Given the description of an element on the screen output the (x, y) to click on. 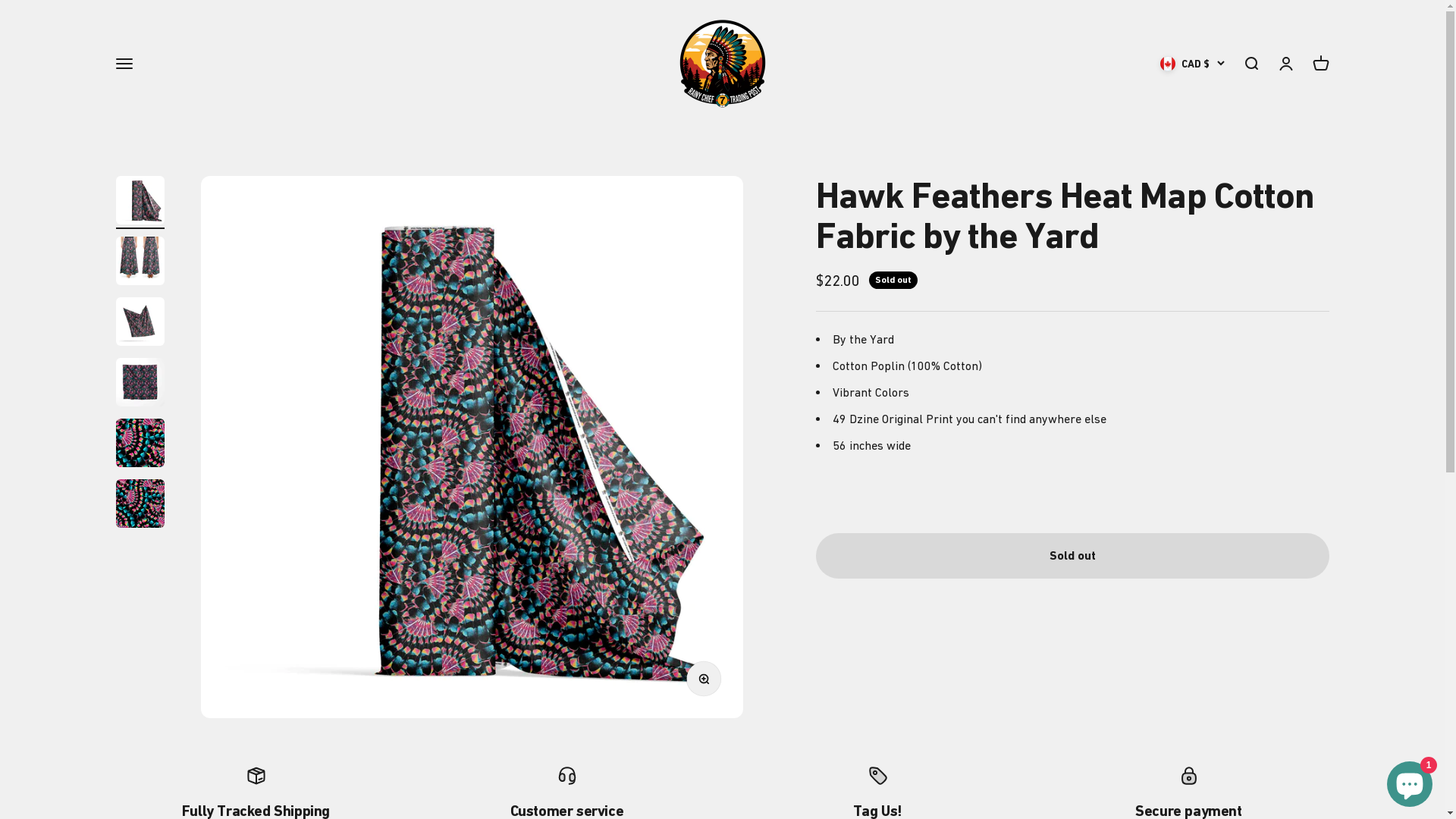
CAD $ Element type: text (1192, 63)
Sold out Element type: text (1072, 555)
49DzineStore Element type: text (721, 63)
Shopify online store chat Element type: hover (1409, 780)
Open search Element type: text (1250, 63)
Zoom Element type: text (707, 683)
Open cart
0 Element type: text (1319, 63)
Open navigation menu Element type: text (123, 63)
Open account page Element type: text (1285, 63)
